Given the description of an element on the screen output the (x, y) to click on. 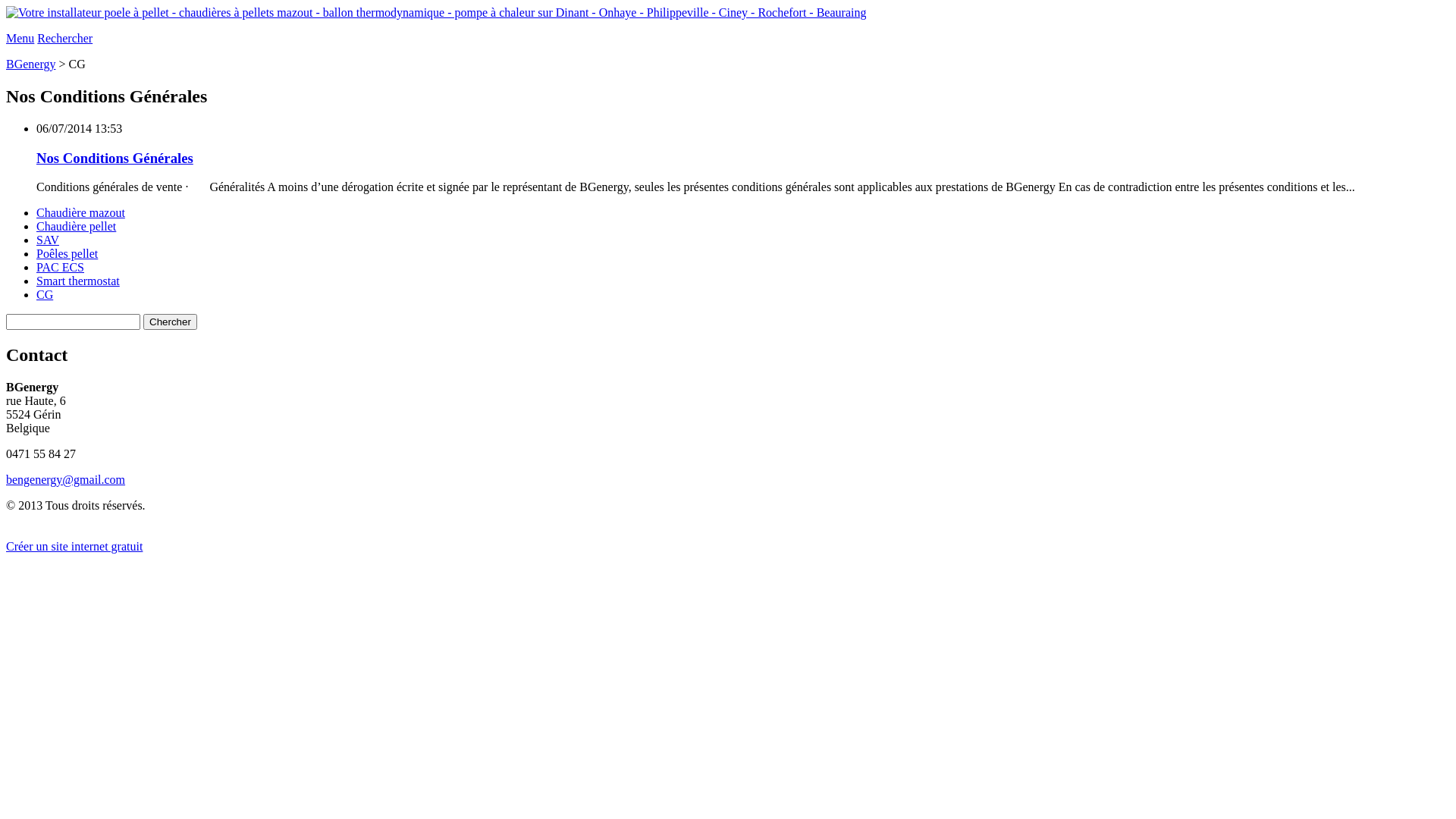
Menu Element type: text (20, 37)
SAV Element type: text (47, 239)
Rechercher Element type: text (64, 37)
BGenergy Element type: text (30, 63)
Smart thermostat Element type: text (77, 280)
Chercher Element type: text (170, 321)
PAC ECS Element type: text (60, 266)
bengenergy@gmail.com Element type: text (65, 479)
CG Element type: text (44, 294)
